Given the description of an element on the screen output the (x, y) to click on. 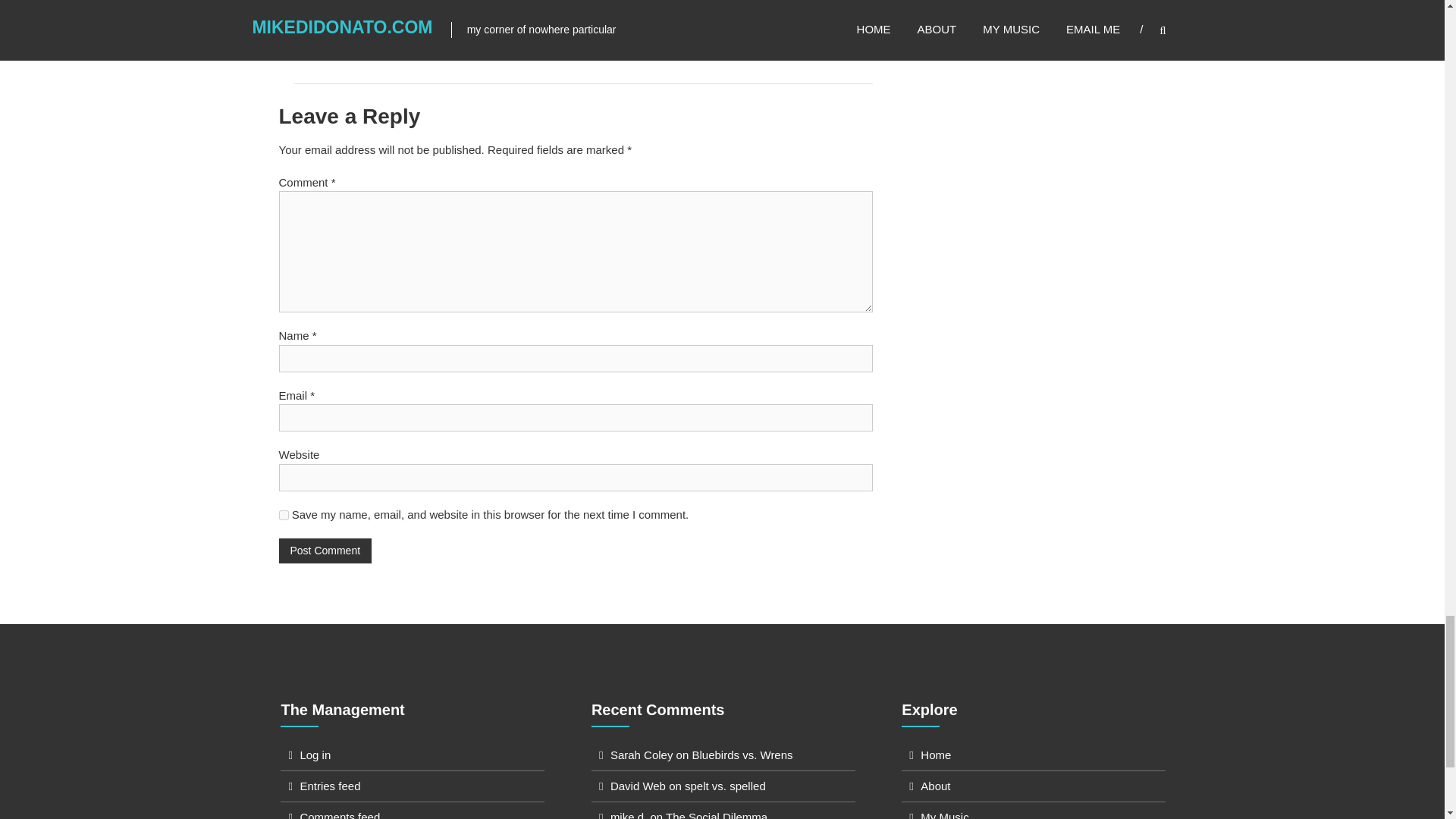
Post Comment (325, 550)
Entries feed (329, 785)
Post Comment (325, 550)
Log in (314, 754)
David Web (637, 785)
yes (283, 515)
Reply (839, 24)
Comments feed (339, 814)
Bluebirds vs. Wrens (741, 754)
